Given the description of an element on the screen output the (x, y) to click on. 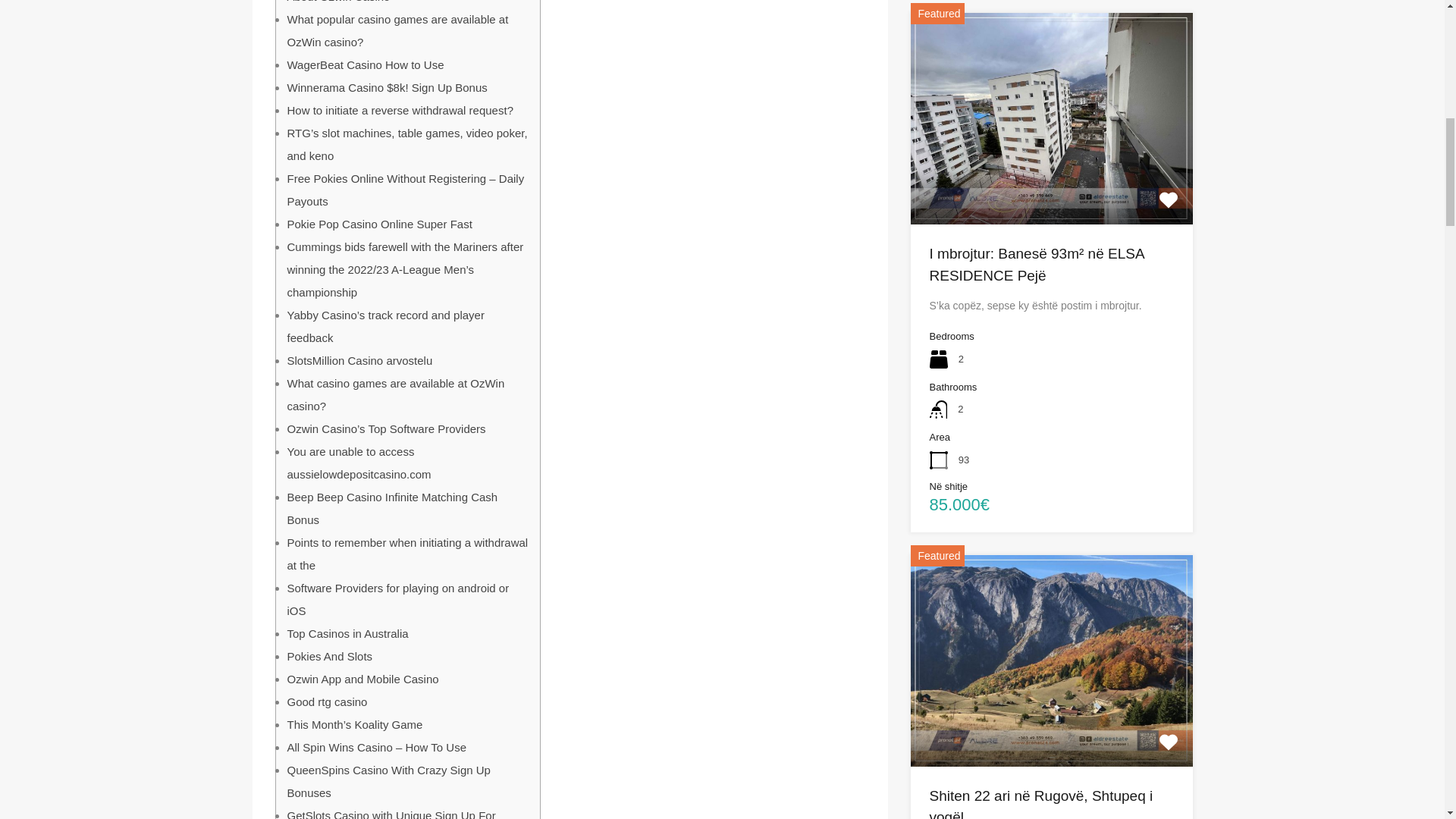
What popular casino games are available at OzWin casino? (397, 29)
How to initiate a reverse withdrawal request? (399, 109)
Pokie Pop Casino Online Super Fast (378, 223)
WagerBeat Casino How to Use (365, 63)
About Ozwin Casino (338, 1)
